Given the description of an element on the screen output the (x, y) to click on. 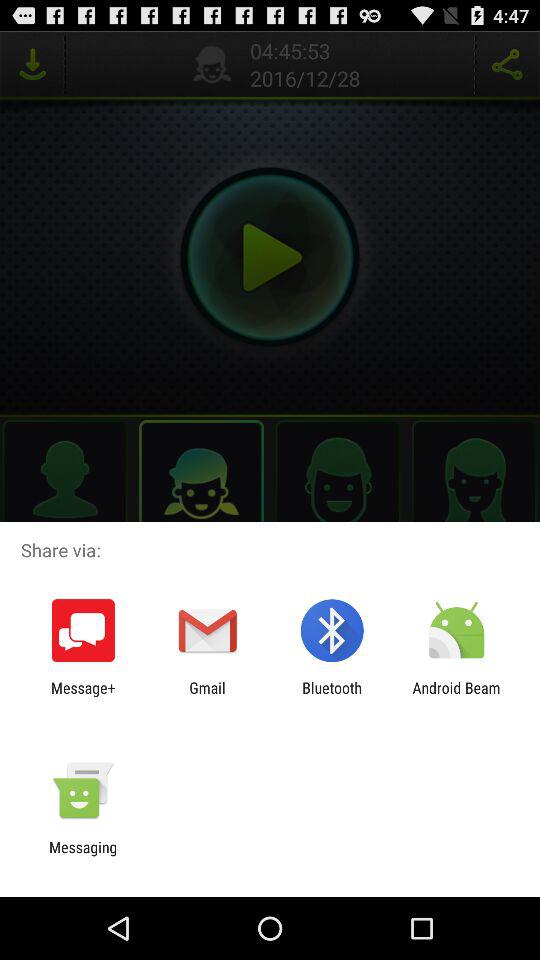
press the messaging (83, 856)
